Given the description of an element on the screen output the (x, y) to click on. 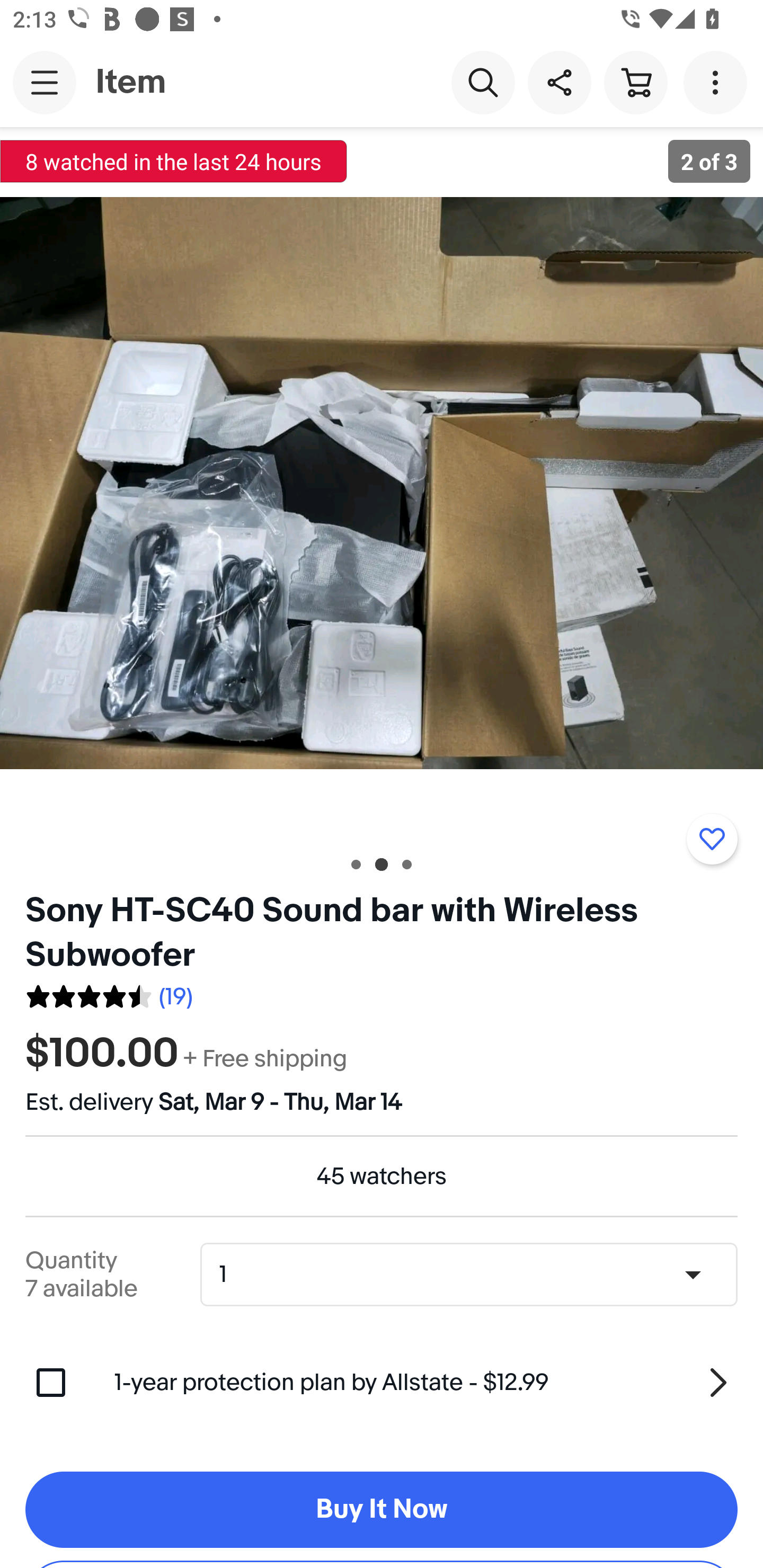
Main navigation, open (44, 82)
Search (482, 81)
Share this item (559, 81)
Cart button shopping cart (635, 81)
More options (718, 81)
Item image 2 of 3 (381, 482)
8 watched in the last 24 hours (173, 161)
Add to watchlist (711, 838)
Quantity,1,7 available 1 (474, 1274)
1-year protection plan by Allstate - $12.99 (425, 1382)
Buy It Now (381, 1509)
